Given the description of an element on the screen output the (x, y) to click on. 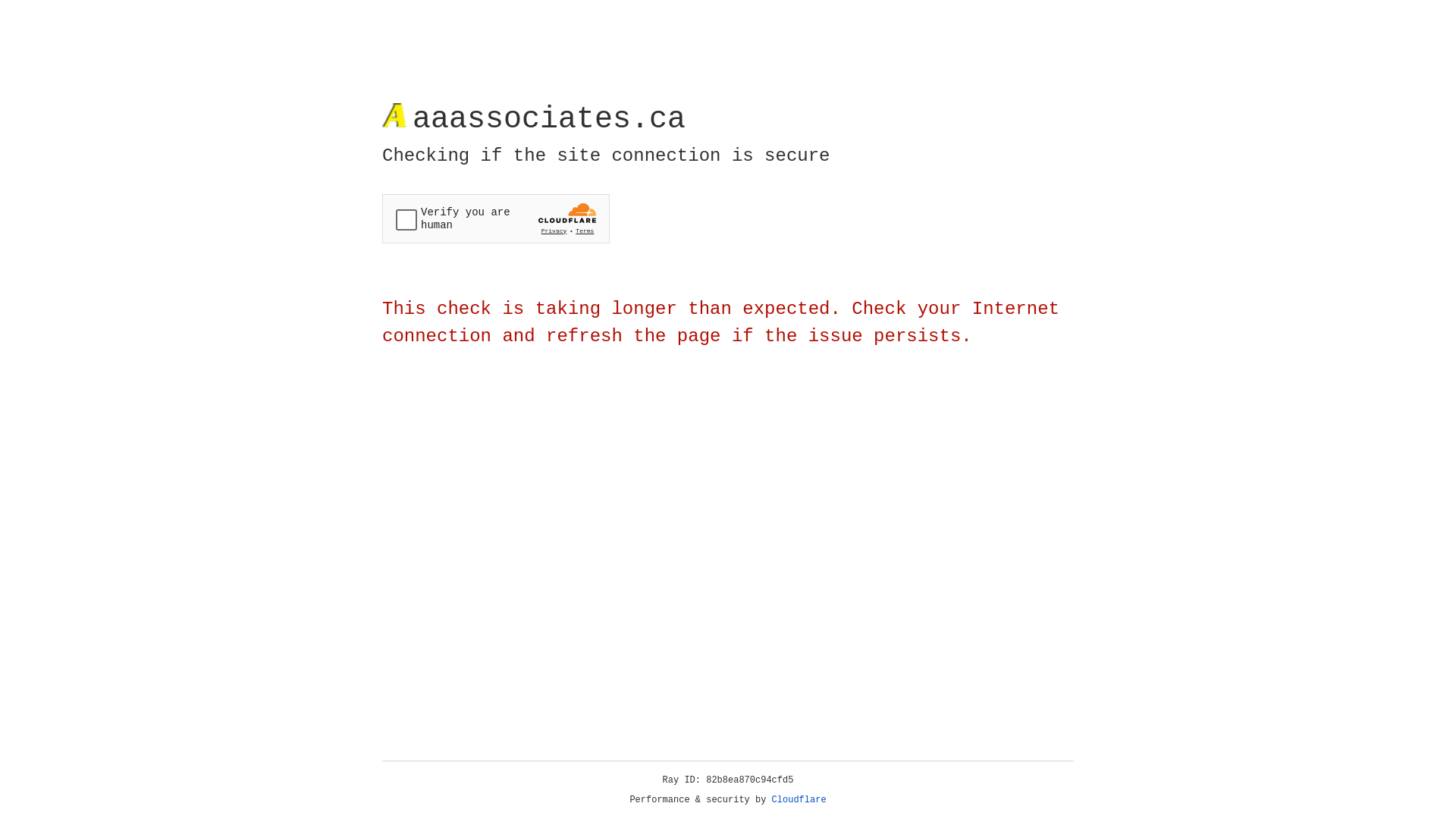
Cloudflare Element type: text (798, 799)
Widget containing a Cloudflare security challenge Element type: hover (495, 218)
